Given the description of an element on the screen output the (x, y) to click on. 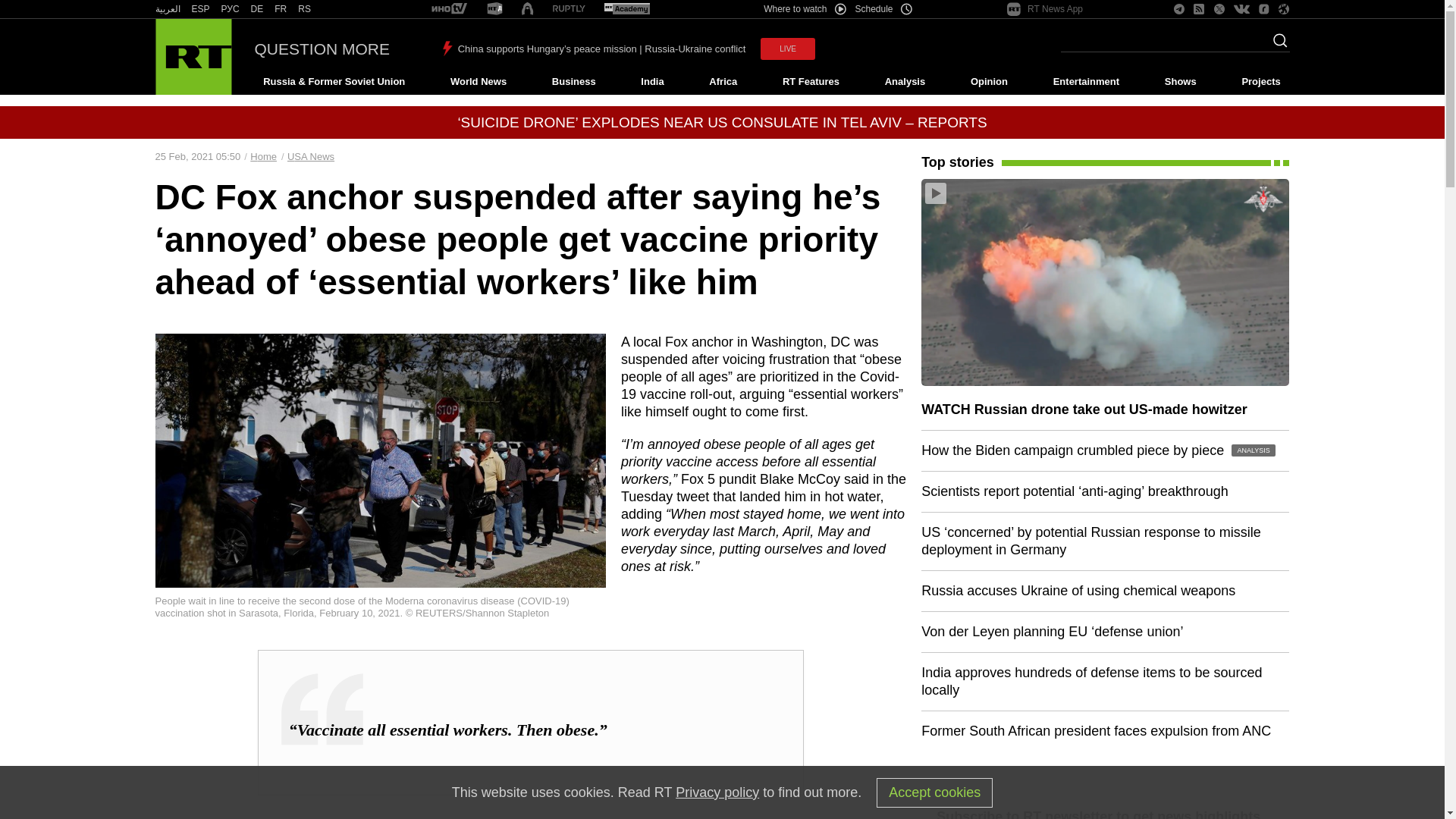
Search (1276, 44)
RS (304, 9)
Shows (1180, 81)
RT  (166, 9)
India (651, 81)
RT  (199, 9)
Where to watch (803, 9)
RT  (280, 9)
RT  (230, 9)
RT  (494, 9)
QUESTION MORE (322, 48)
RT  (526, 9)
RT  (448, 9)
RT  (304, 9)
Search (1276, 44)
